Given the description of an element on the screen output the (x, y) to click on. 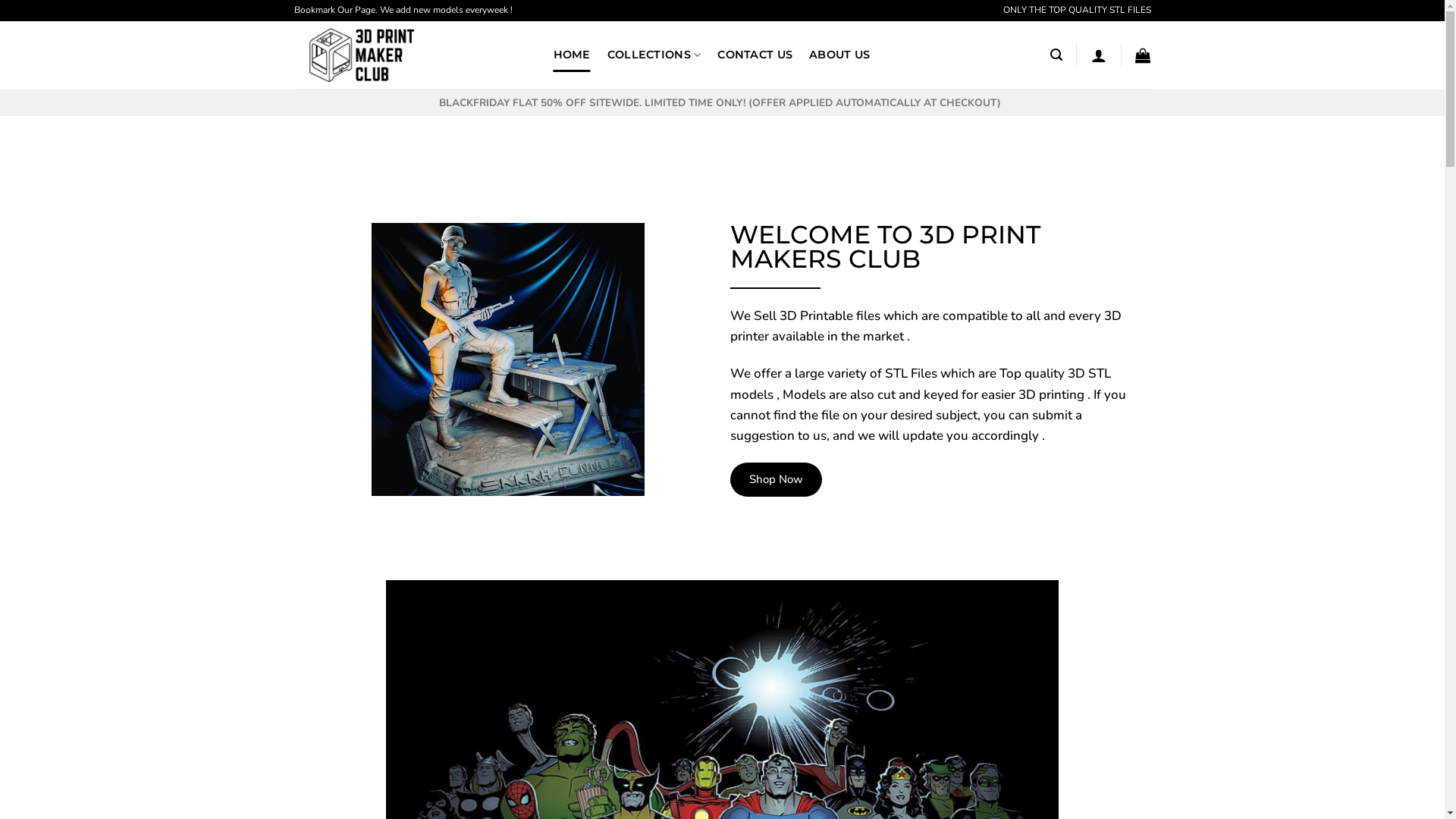
CONTACT US Element type: text (754, 54)
Cart Element type: hover (1142, 55)
COLLECTIONS Element type: text (654, 54)
ABOUT US Element type: text (839, 54)
HOME Element type: text (571, 54)
Shop Now Element type: text (775, 479)
